Given the description of an element on the screen output the (x, y) to click on. 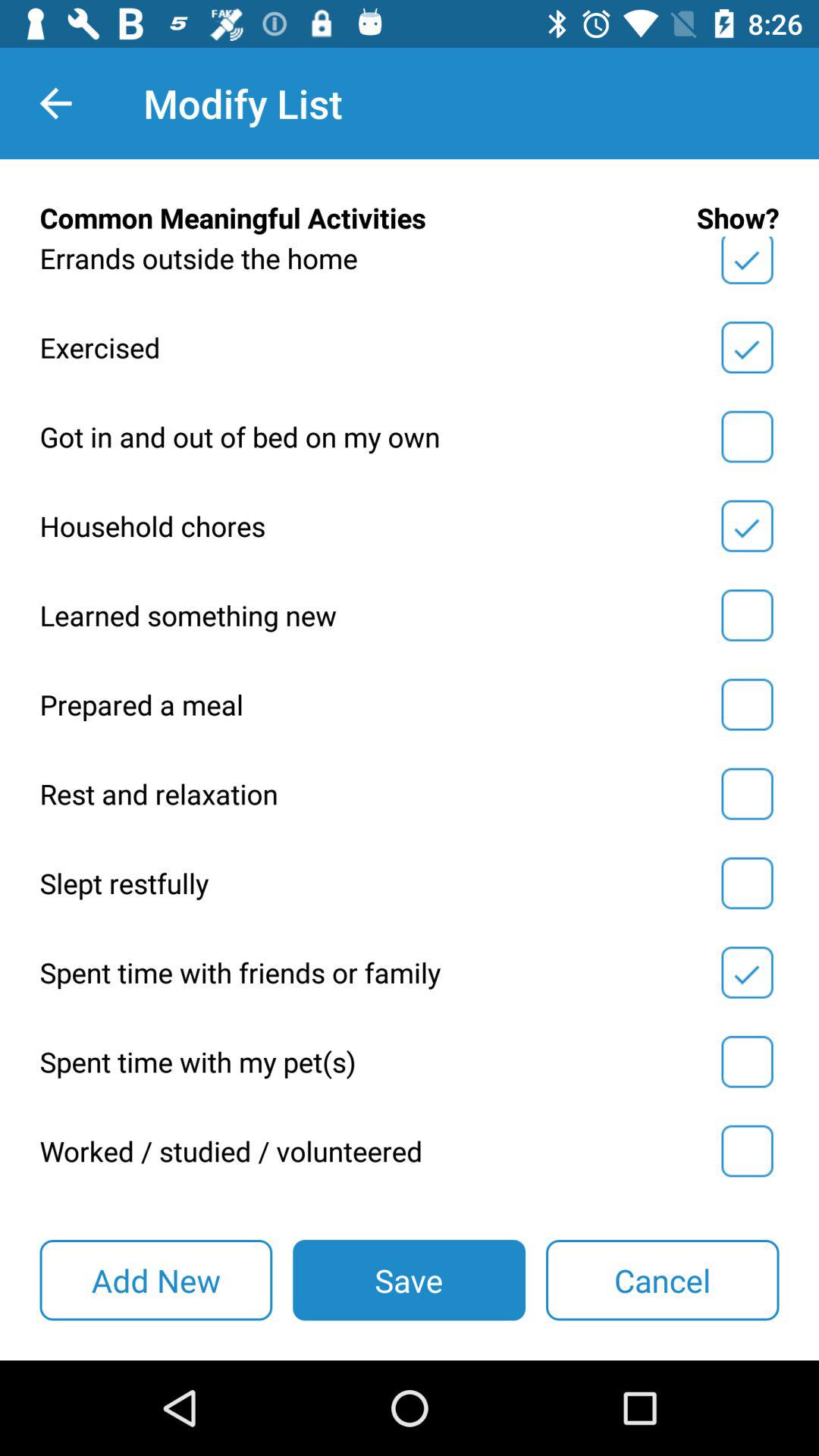
turn off the item next to cancel item (408, 1279)
